Given the description of an element on the screen output the (x, y) to click on. 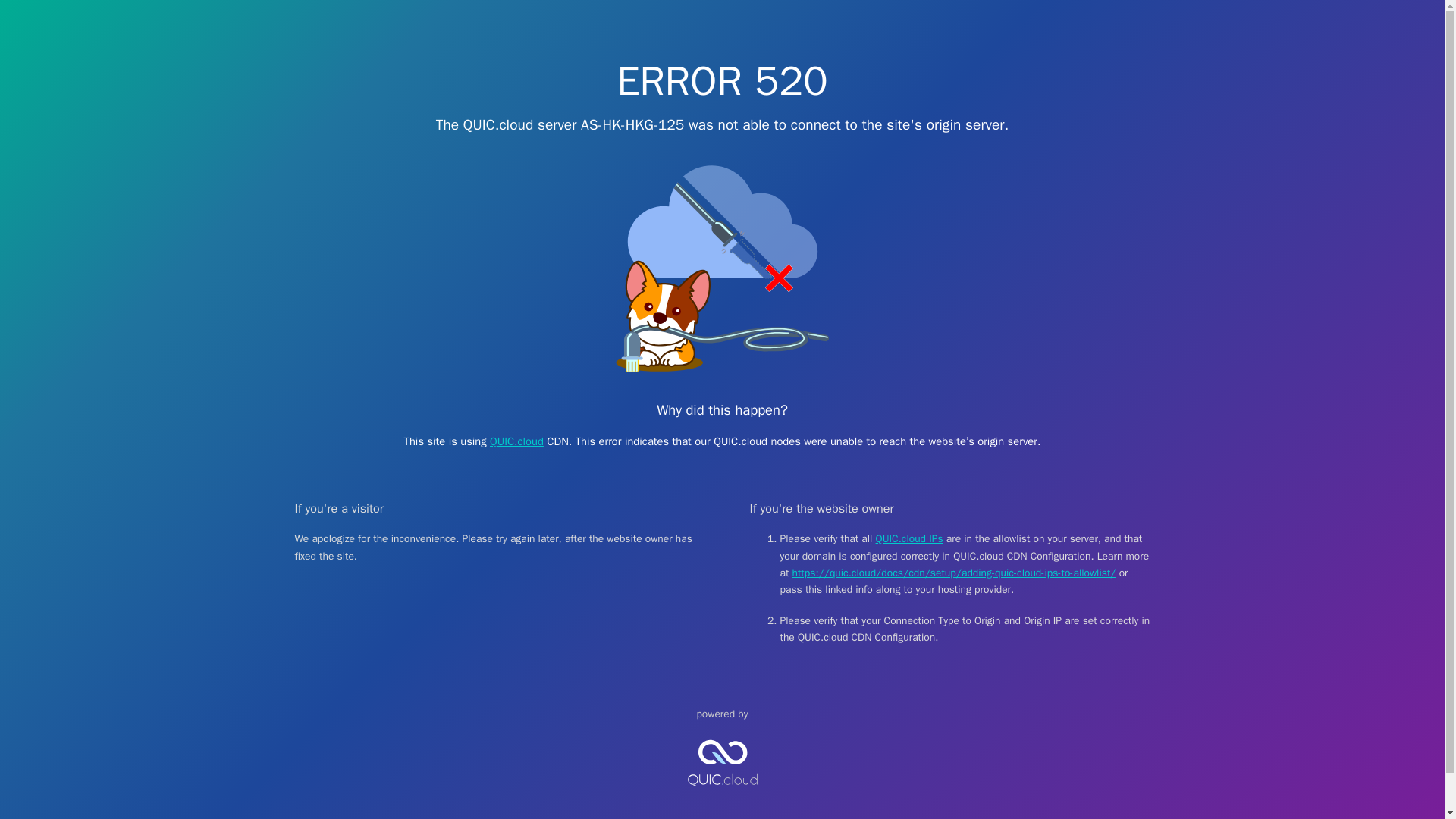
QUIC.cloud (516, 440)
QUIC.cloud IPs (909, 538)
QUIC.cloud (721, 798)
